Given the description of an element on the screen output the (x, y) to click on. 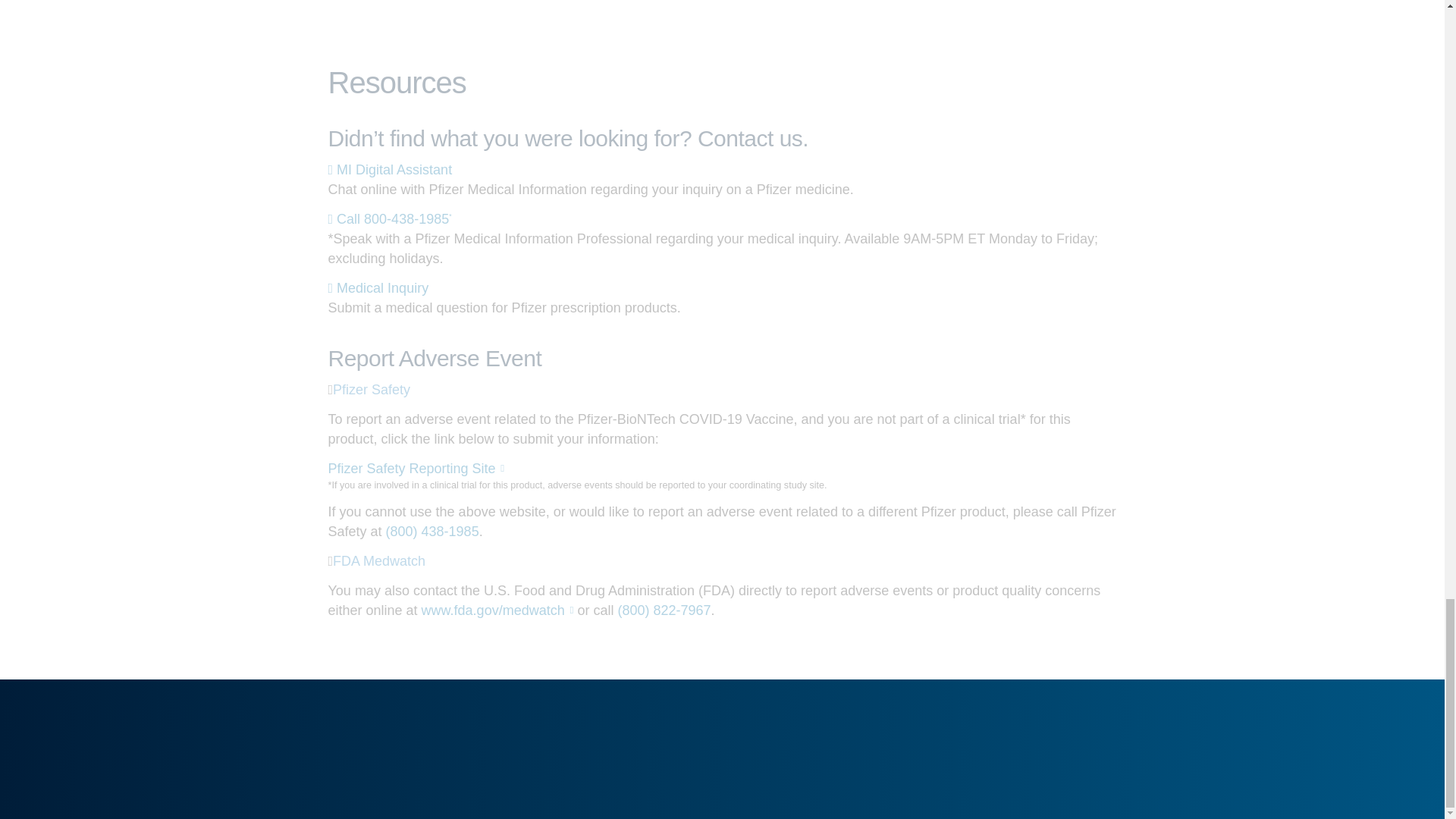
Medical Inquiry (377, 287)
MI Digital Assistant (389, 169)
Pfizer Safety Reporting Site (415, 468)
